Given the description of an element on the screen output the (x, y) to click on. 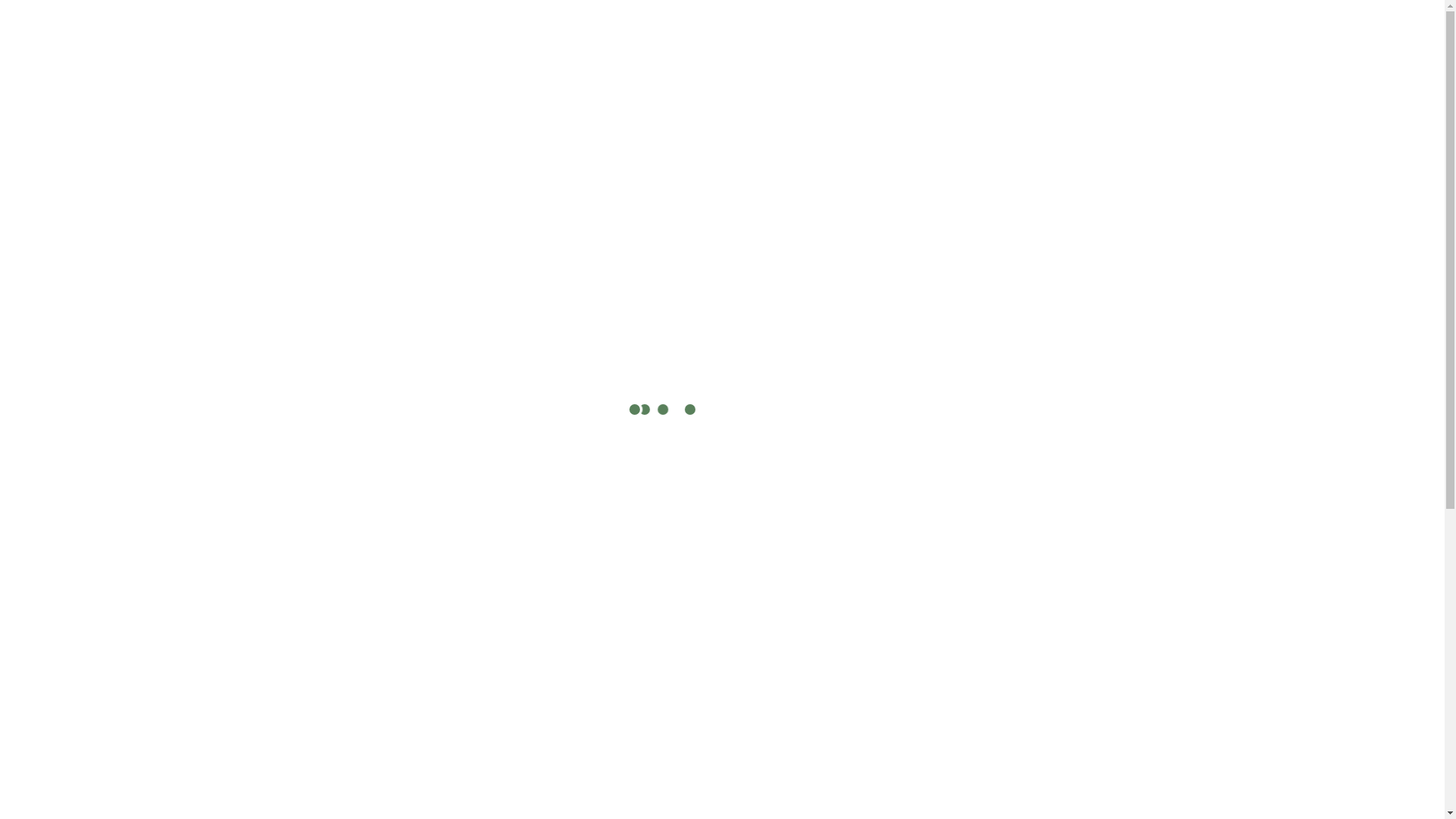
Blogs Element type: text (1088, 78)
Ask about this product Element type: text (828, 340)
Contact us Element type: text (746, 14)
Contact Us Element type: text (1275, 78)
FAQs Element type: text (1027, 78)
Products Element type: text (703, 78)
About Element type: text (965, 78)
We have moved! Element type: text (930, 14)
Collections Element type: text (882, 78)
Suppliers Element type: text (788, 78)
email us Element type: text (837, 804)
Custom Quote Element type: text (1174, 78)
